Given the description of an element on the screen output the (x, y) to click on. 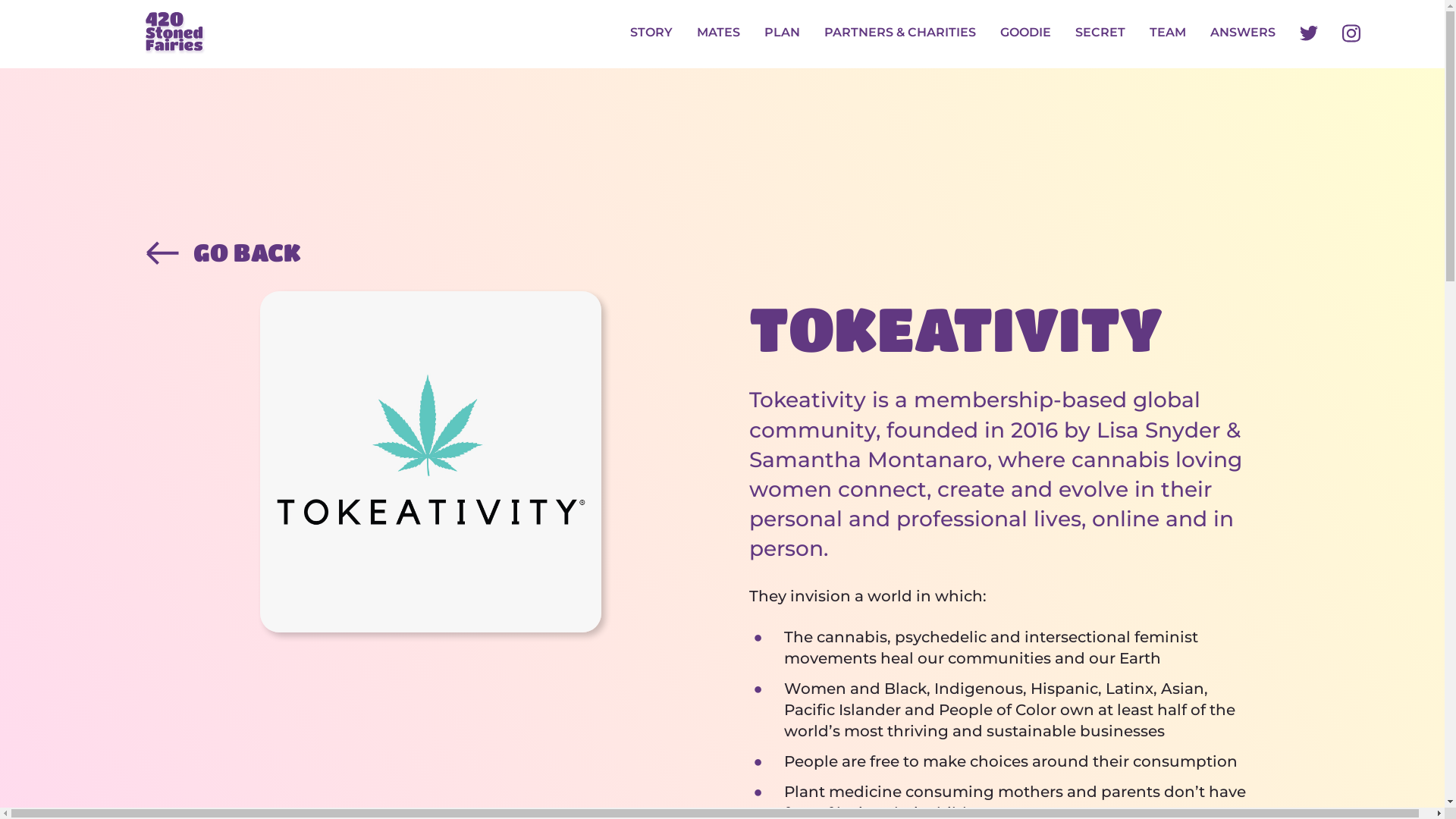
MATES Element type: text (718, 33)
PARTNERS & CHARITIES Element type: text (899, 33)
GO BACK Element type: text (721, 252)
TEAM Element type: text (1167, 33)
GOODIE Element type: text (1025, 33)
PLAN Element type: text (782, 33)
SECRET Element type: text (1100, 33)
ANSWERS Element type: text (1242, 33)
STORY Element type: text (651, 33)
